Given the description of an element on the screen output the (x, y) to click on. 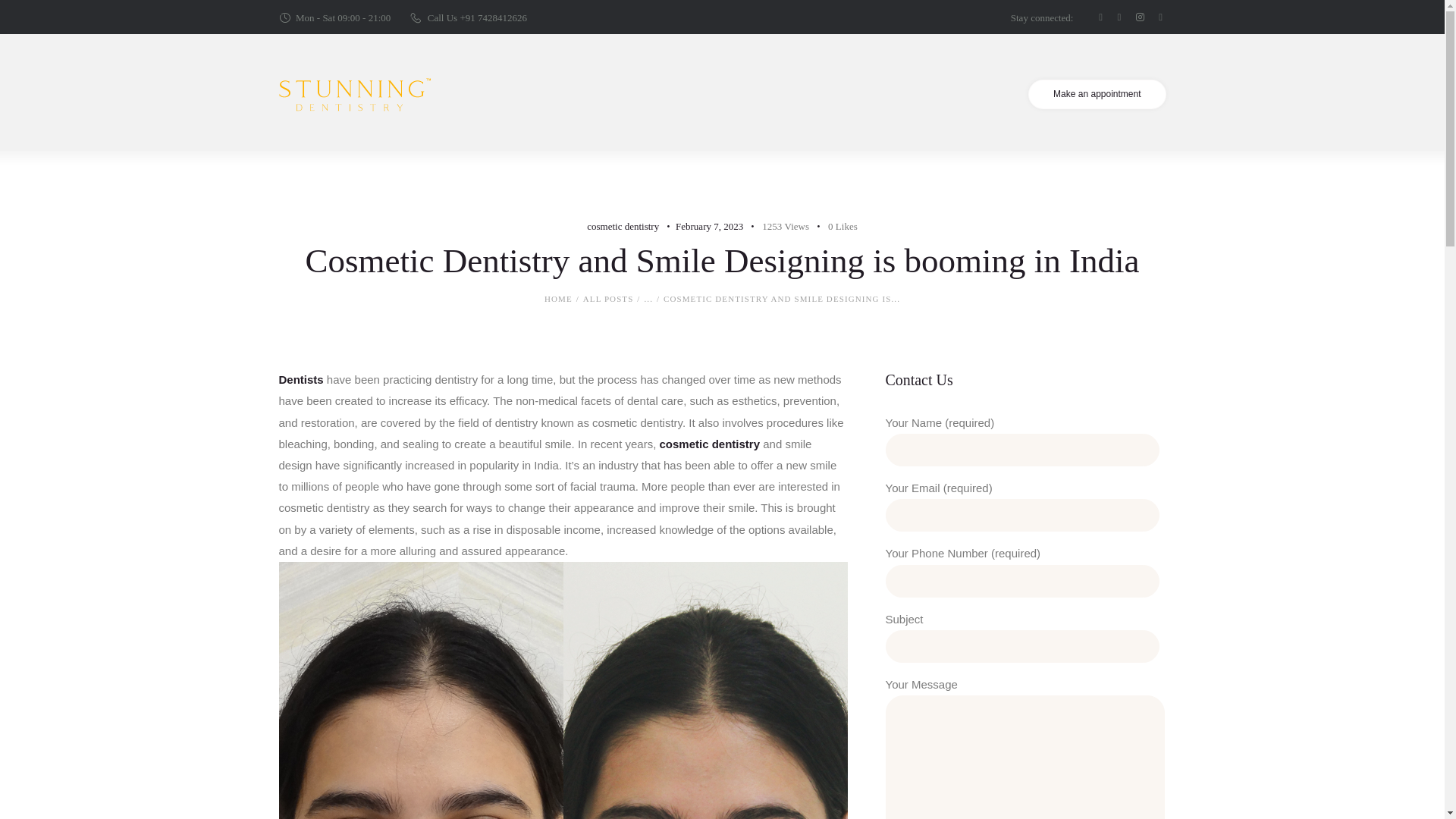
ALL POSTS (608, 298)
Make an appointment (1096, 93)
cosmetic dentistry (622, 225)
1253Views (777, 225)
HOME (558, 298)
Like (833, 225)
February 7, 2023 (708, 225)
0Likes (833, 225)
